Given the description of an element on the screen output the (x, y) to click on. 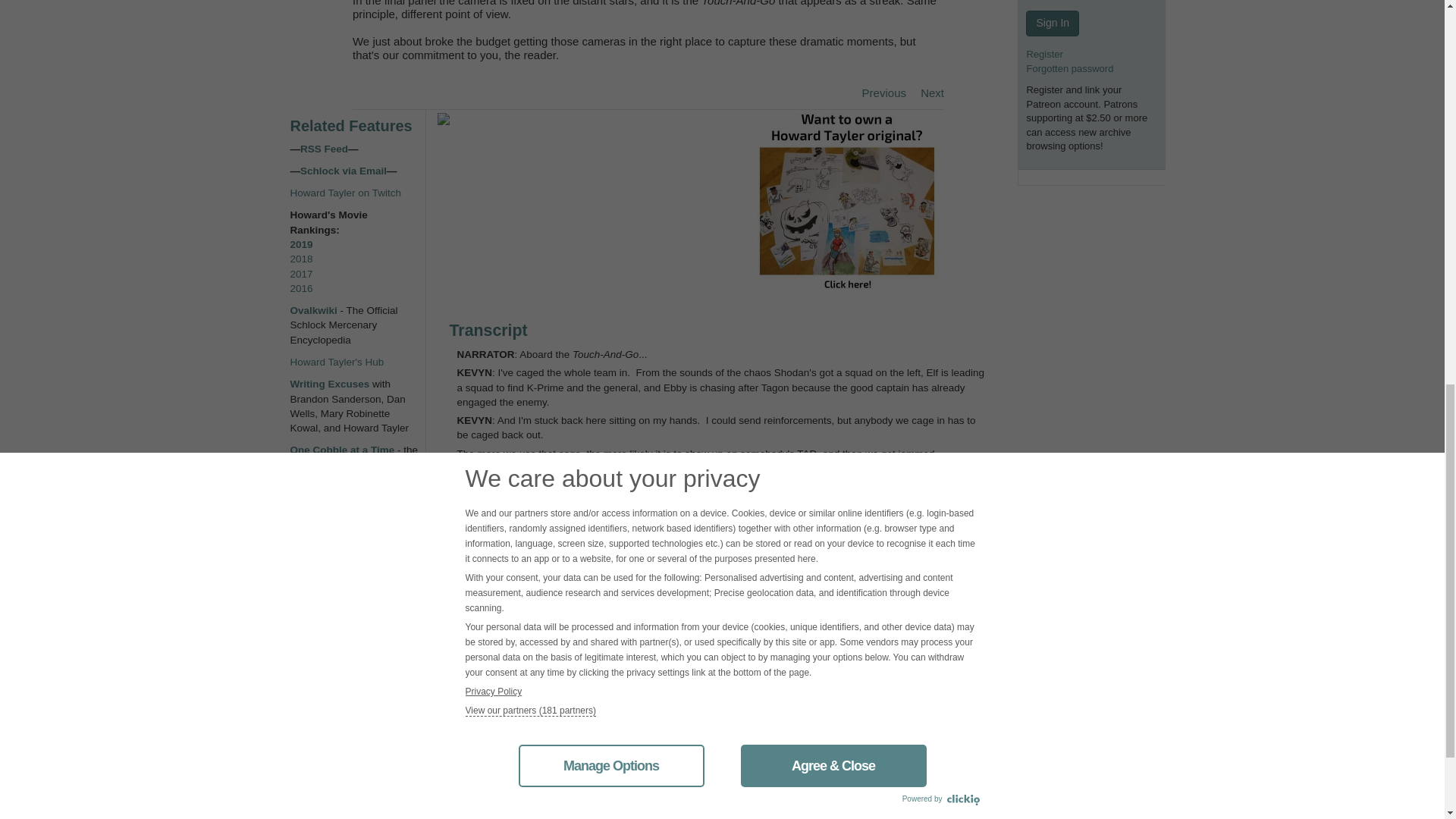
2016 (301, 288)
Howard Tayler on Twitch (345, 193)
Schlock Mercenary Discussion (333, 597)
Next (925, 92)
Ovalkwiki (314, 310)
Howard Tayler's Hub (336, 361)
One Cobble at a Time (341, 449)
2017 (301, 274)
Privacy settings (325, 626)
Writing Excuses (329, 383)
Howard Tayler on Twitch (345, 193)
RSS Feed (323, 148)
An Unofficial Anecdotal History of Challenge Coins (346, 516)
2018 (301, 258)
Ovalkwiki  (314, 310)
